Given the description of an element on the screen output the (x, y) to click on. 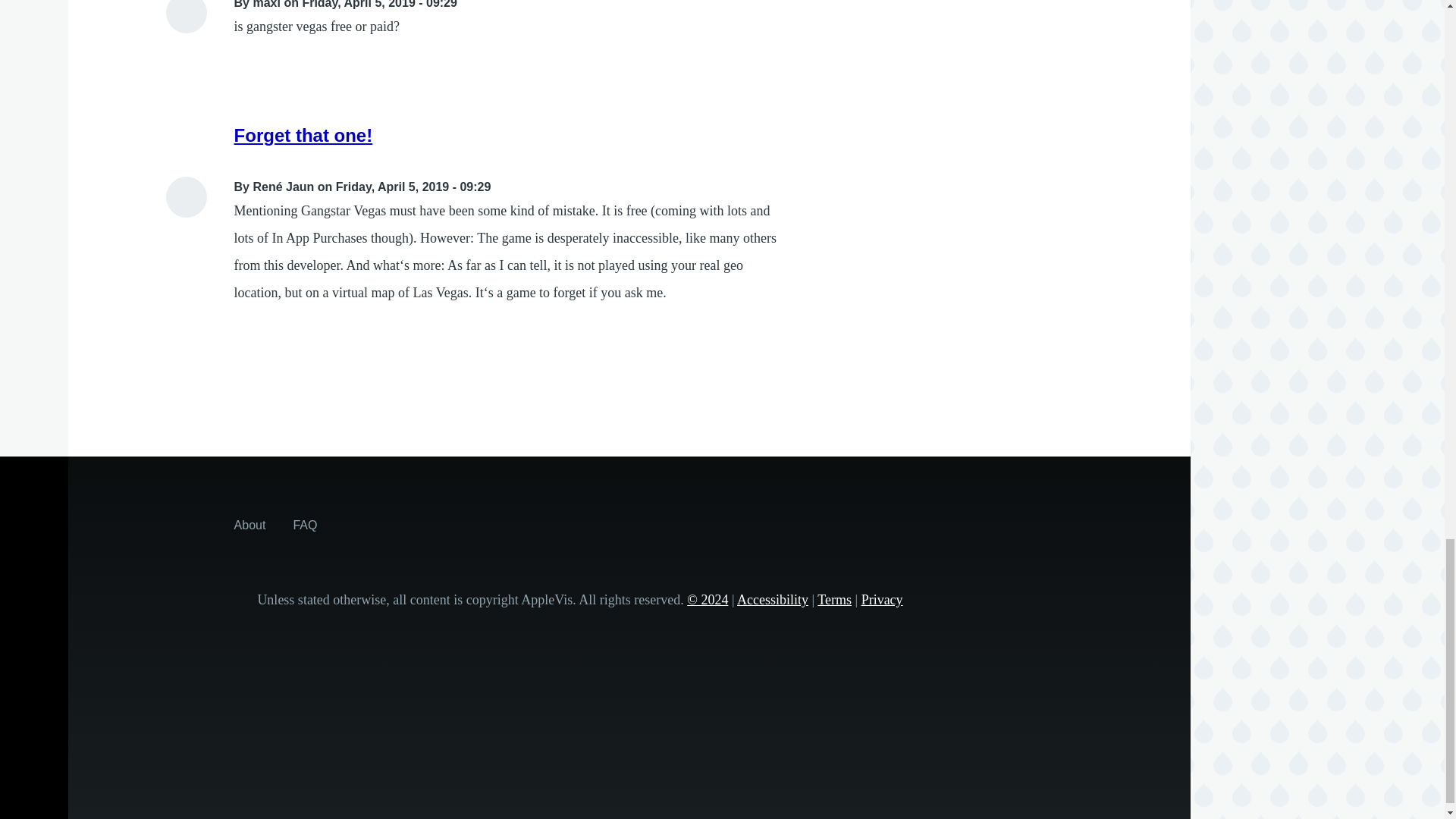
Terms (833, 599)
Forget that one! (303, 135)
Accessibility (772, 599)
Privacy (881, 599)
About (250, 524)
About (250, 524)
